Given the description of an element on the screen output the (x, y) to click on. 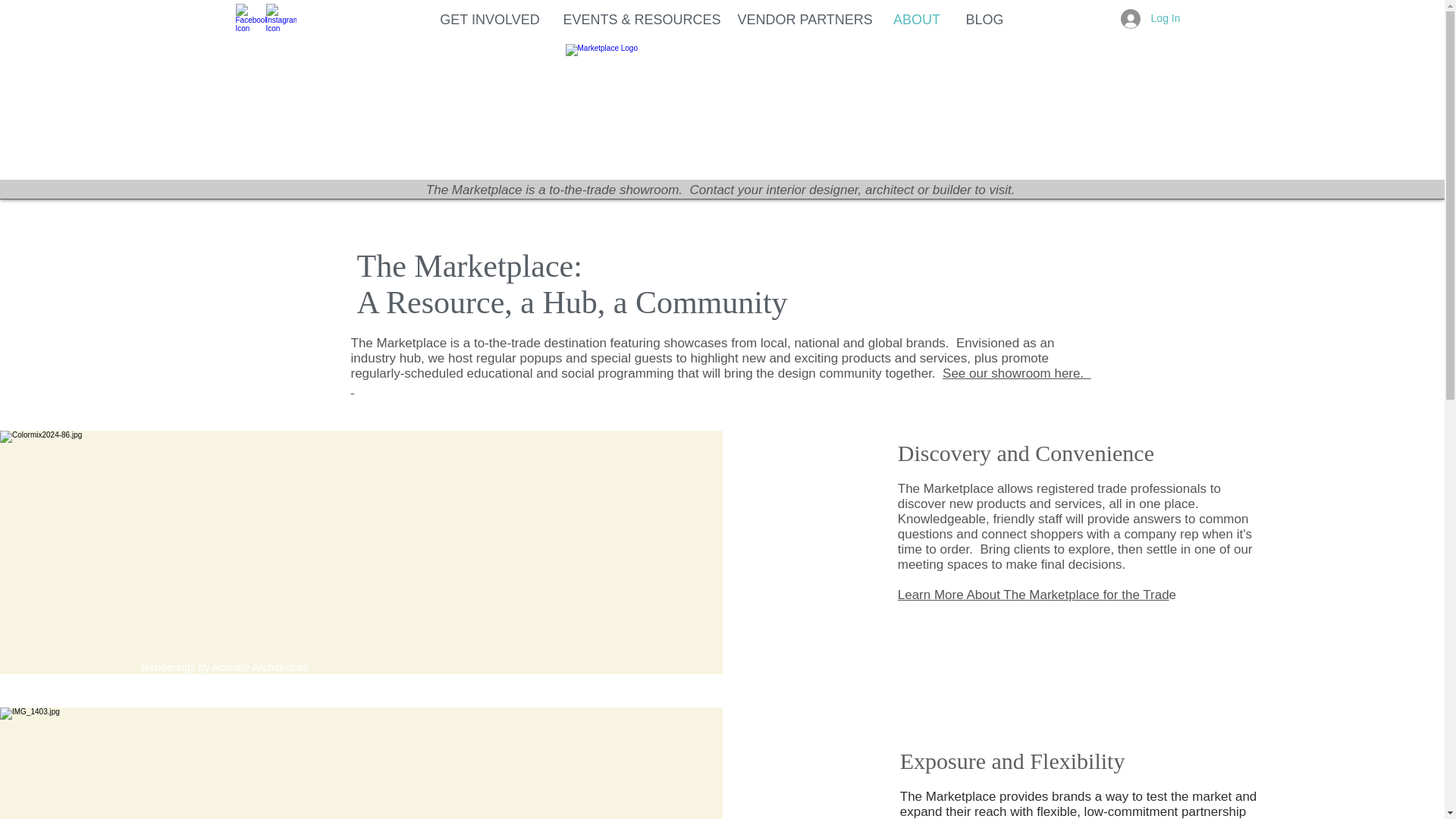
Activate Architecture (260, 666)
ABOUT (916, 19)
See our showroom here.     (720, 380)
VENDOR PARTNERS (803, 19)
Log In (1150, 18)
Learn More About The Marketplace for the Trad (1033, 594)
